Given the description of an element on the screen output the (x, y) to click on. 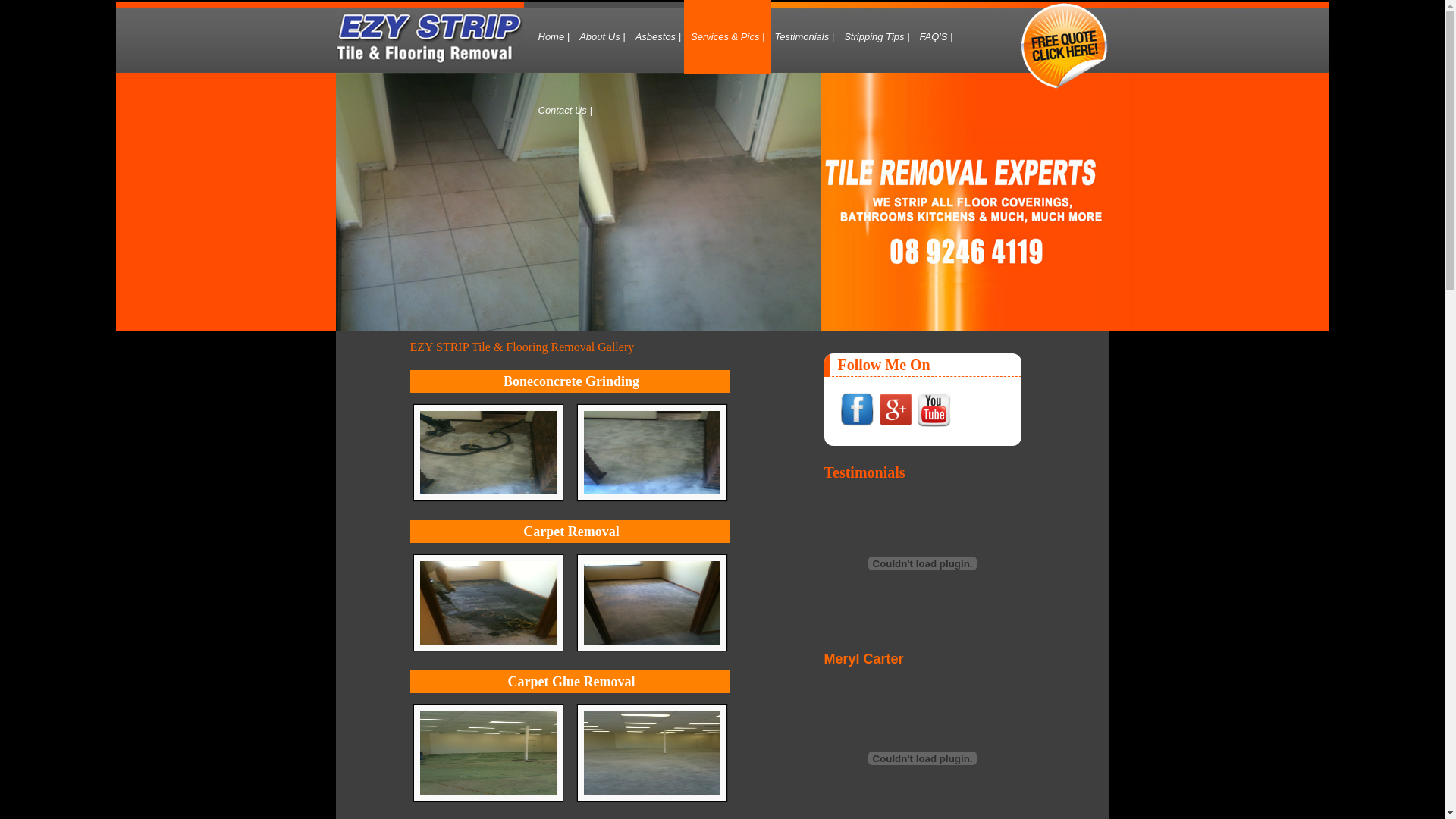
Facebook Element type: hover (855, 409)
Asbestos | Element type: text (657, 36)
About Us | Element type: text (601, 36)
After Element type: hover (488, 796)
Contact Us | Element type: text (565, 110)
Google Plus Element type: hover (895, 409)
FAQ'S | Element type: text (936, 36)
After Element type: hover (651, 646)
Twitter Element type: hover (933, 409)
Before Element type: hover (488, 495)
Testimonials | Element type: text (804, 36)
After Element type: hover (651, 495)
Before Element type: hover (651, 796)
Services & Pics | Element type: text (727, 36)
Stripping Tips | Element type: text (876, 36)
Before Element type: hover (488, 646)
Home | Element type: text (554, 36)
